Given the description of an element on the screen output the (x, y) to click on. 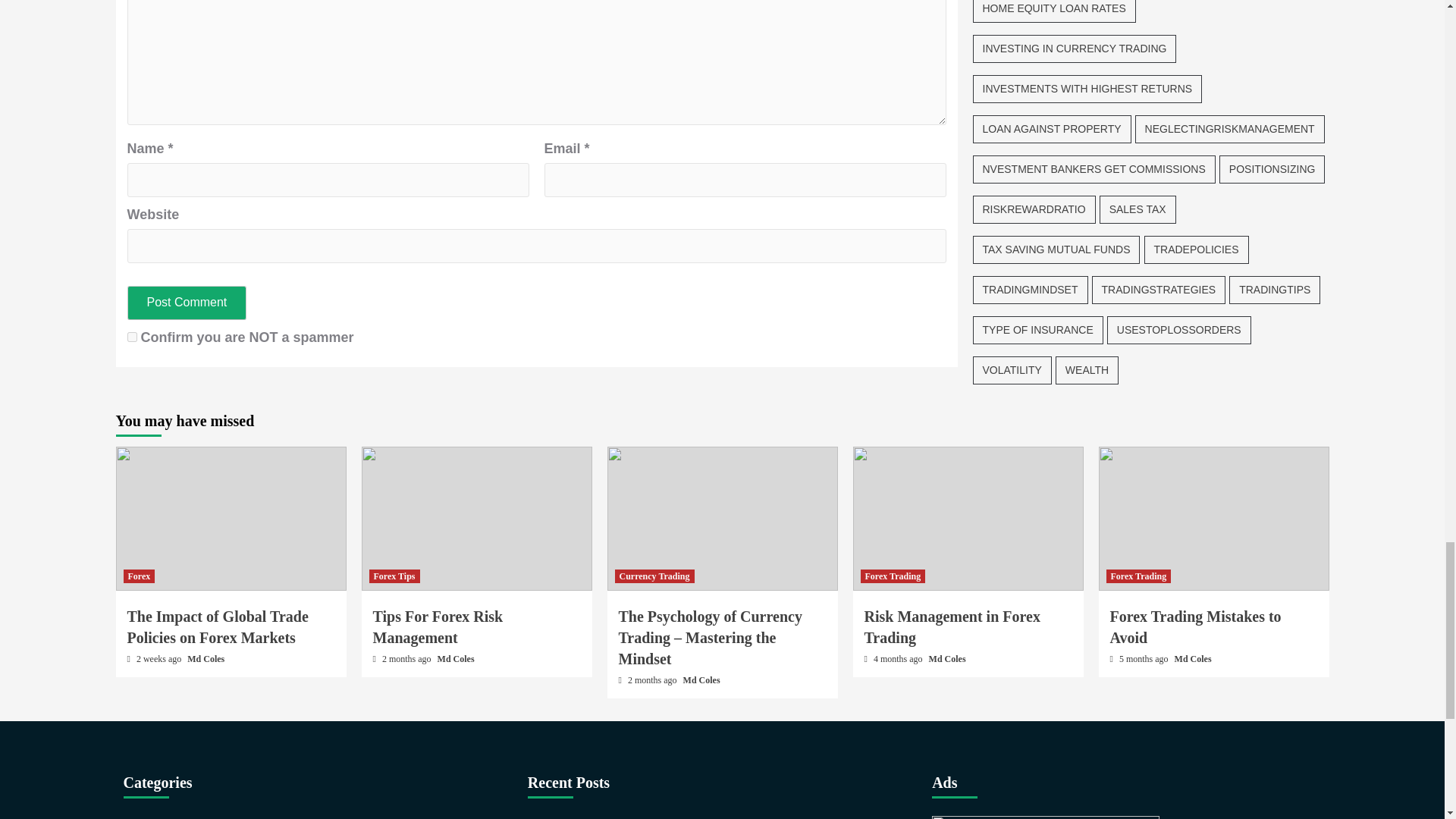
Post Comment (187, 302)
Post Comment (187, 302)
on (132, 337)
